Given the description of an element on the screen output the (x, y) to click on. 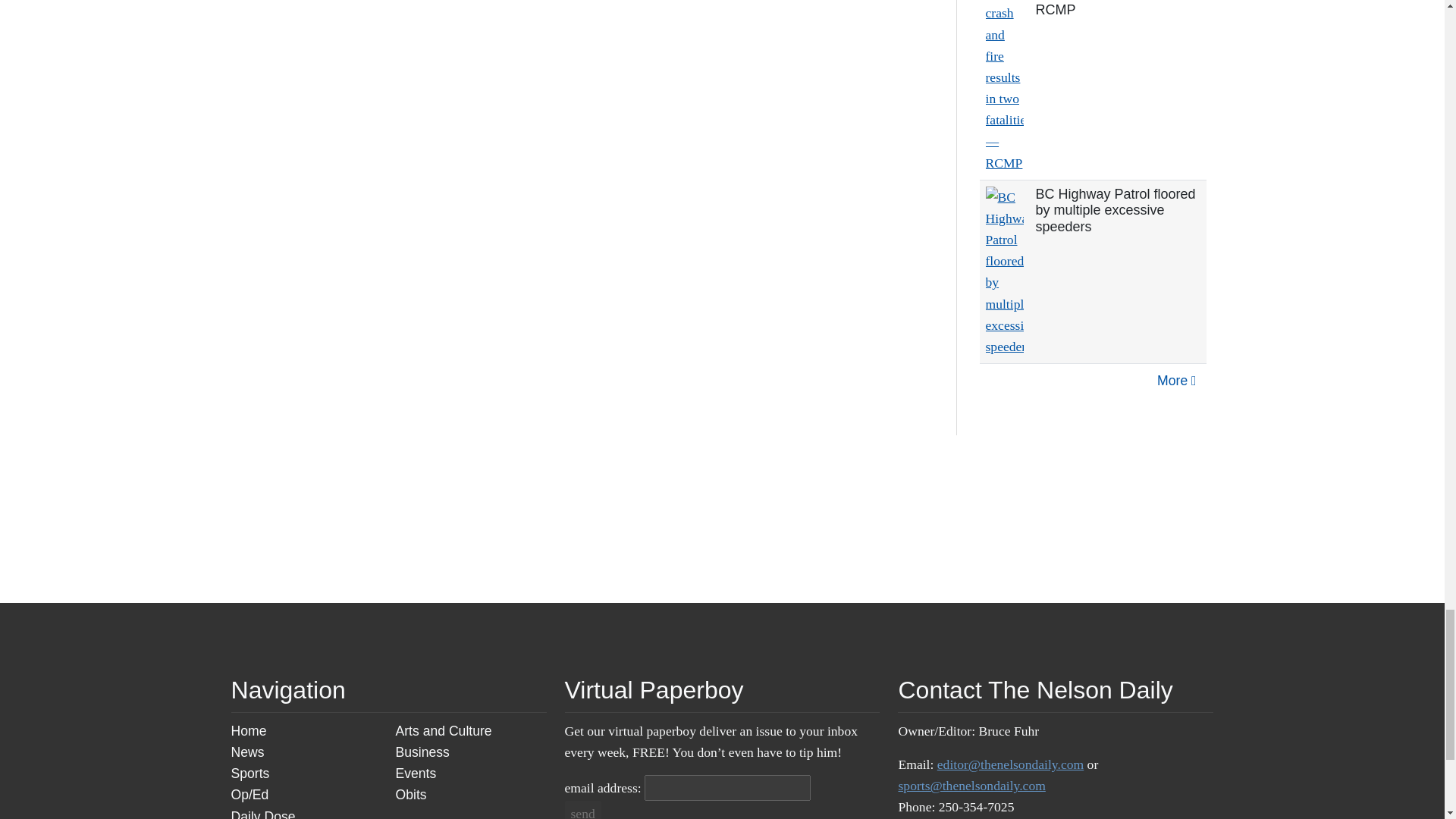
3rd party ad content (721, 518)
send (581, 809)
3rd party ad content (551, 518)
3rd party ad content (891, 518)
